Given the description of an element on the screen output the (x, y) to click on. 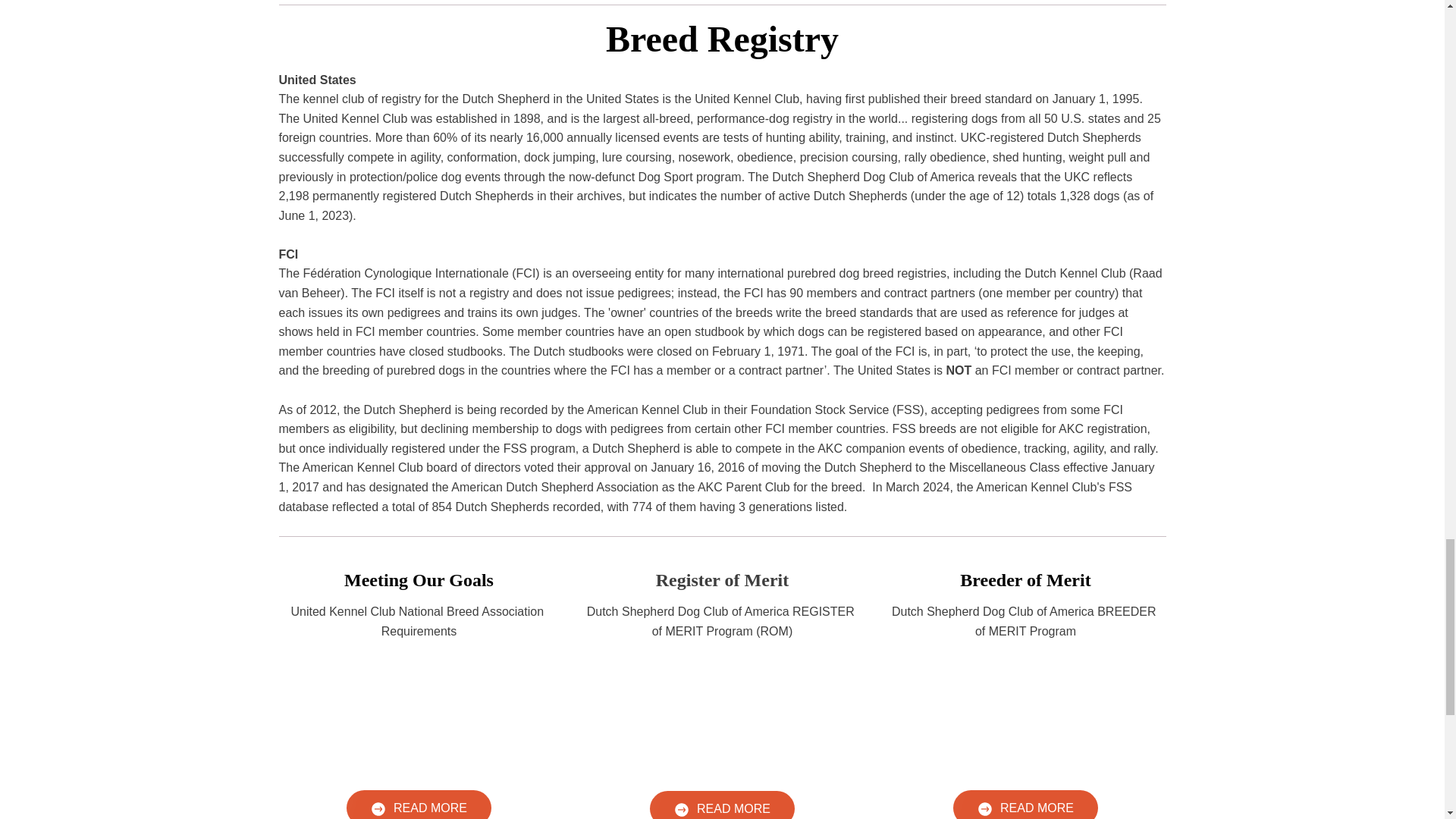
READ MORE (1025, 804)
READ MORE (419, 804)
READ MORE (721, 805)
